Given the description of an element on the screen output the (x, y) to click on. 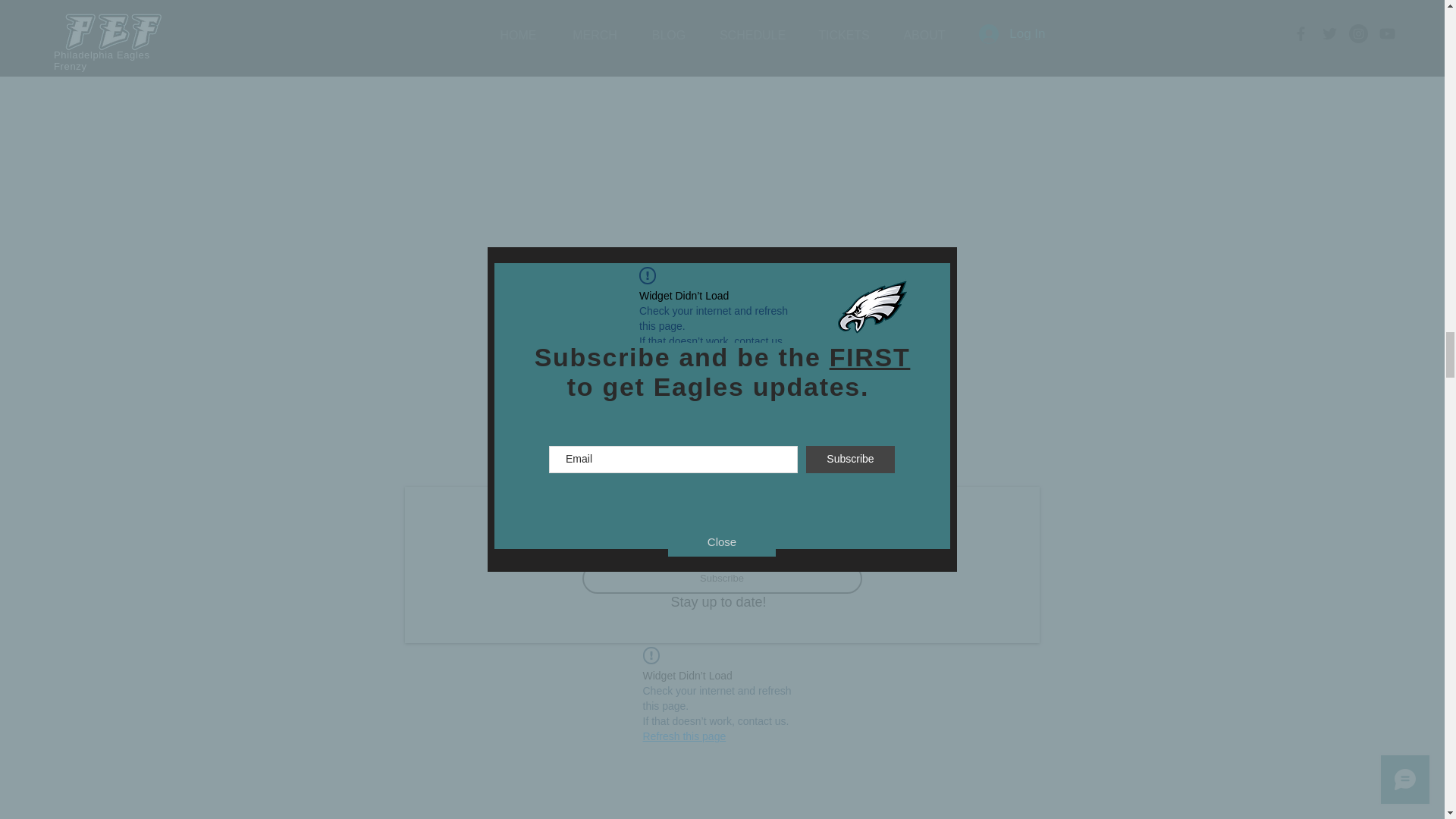
Subscribe (721, 578)
Refresh this page (684, 735)
